Given the description of an element on the screen output the (x, y) to click on. 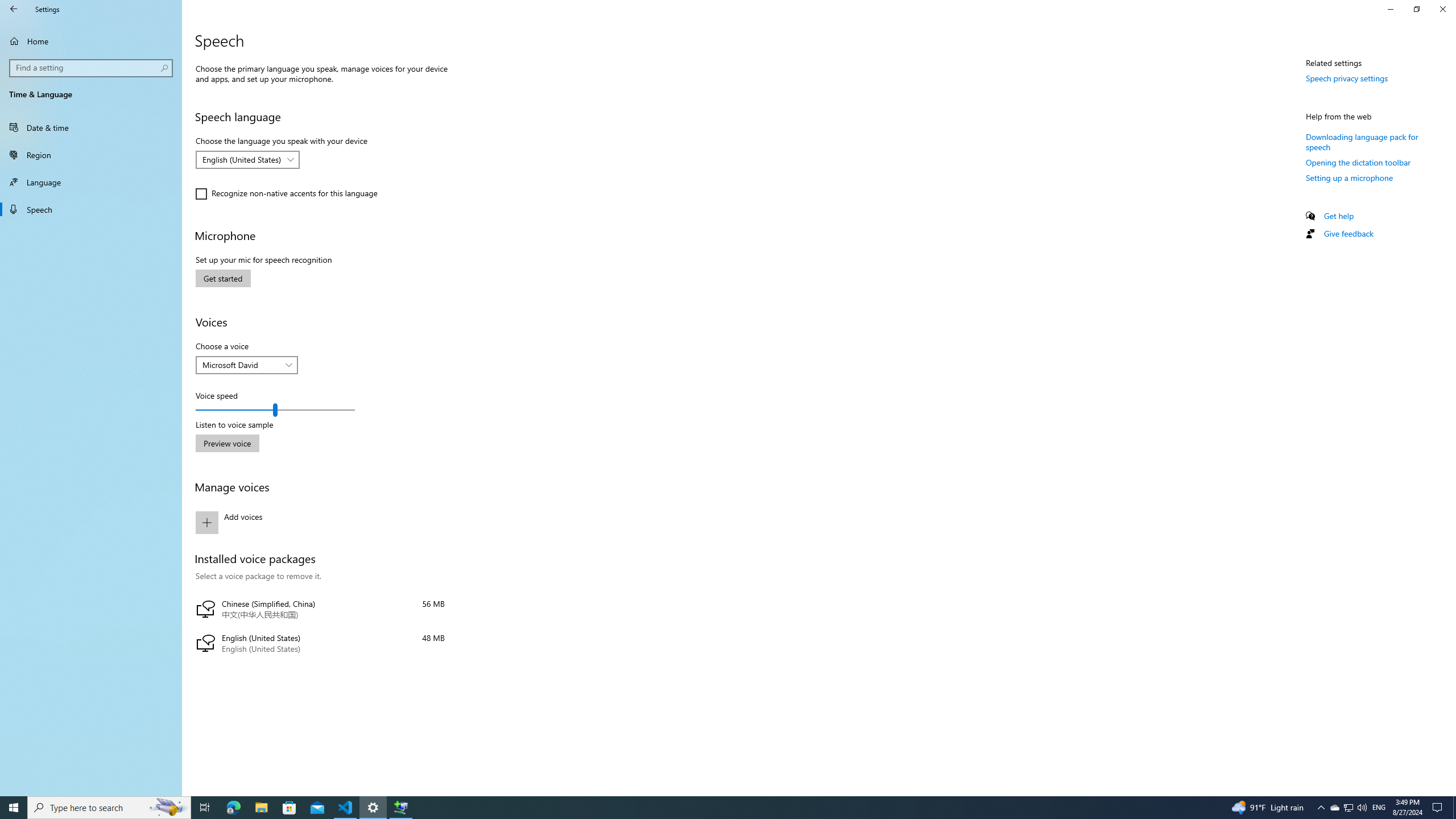
Language (91, 181)
Add voices (319, 522)
Task View (1333, 807)
